Given the description of an element on the screen output the (x, y) to click on. 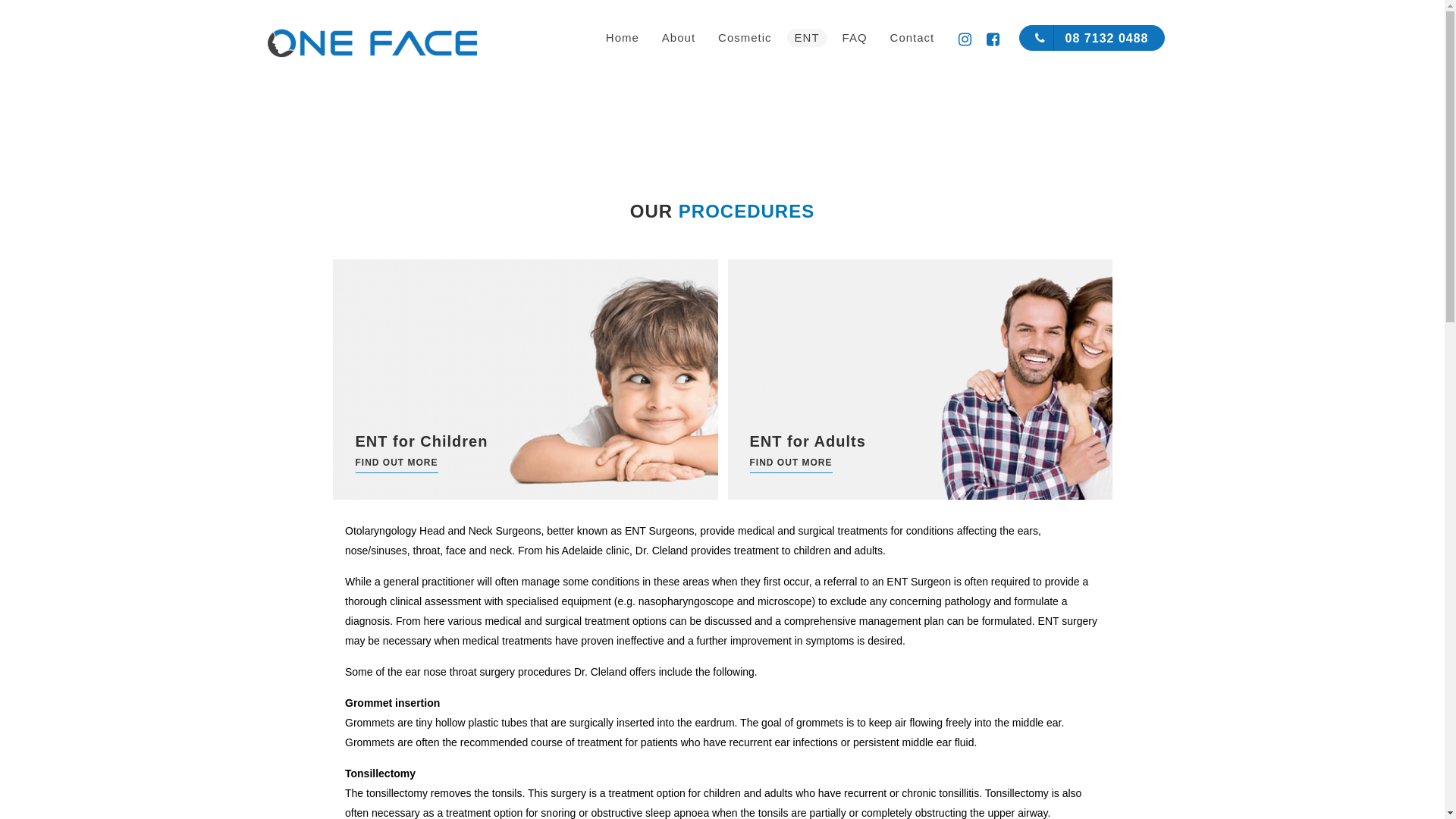
FAQ Element type: text (854, 37)
Contact Element type: text (912, 37)
FIND OUT MORE Element type: text (395, 462)
ENT Element type: text (807, 37)
Home Element type: text (622, 37)
Cosmetic Element type: text (744, 37)
08 7132 0488 Element type: text (1091, 37)
FIND OUT MORE Element type: text (790, 462)
About Element type: text (678, 37)
